Given the description of an element on the screen output the (x, y) to click on. 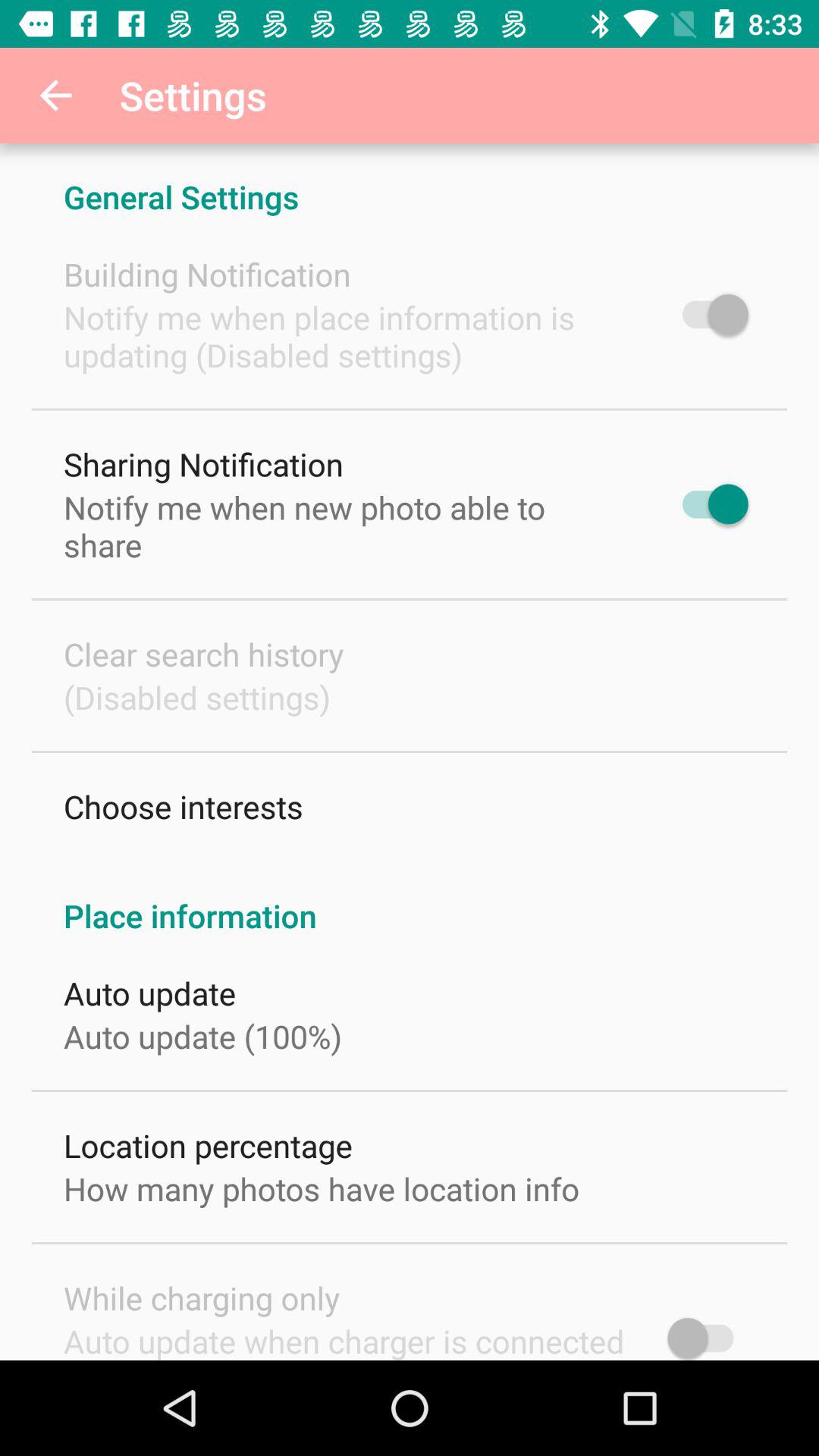
press the general settings item (409, 180)
